Given the description of an element on the screen output the (x, y) to click on. 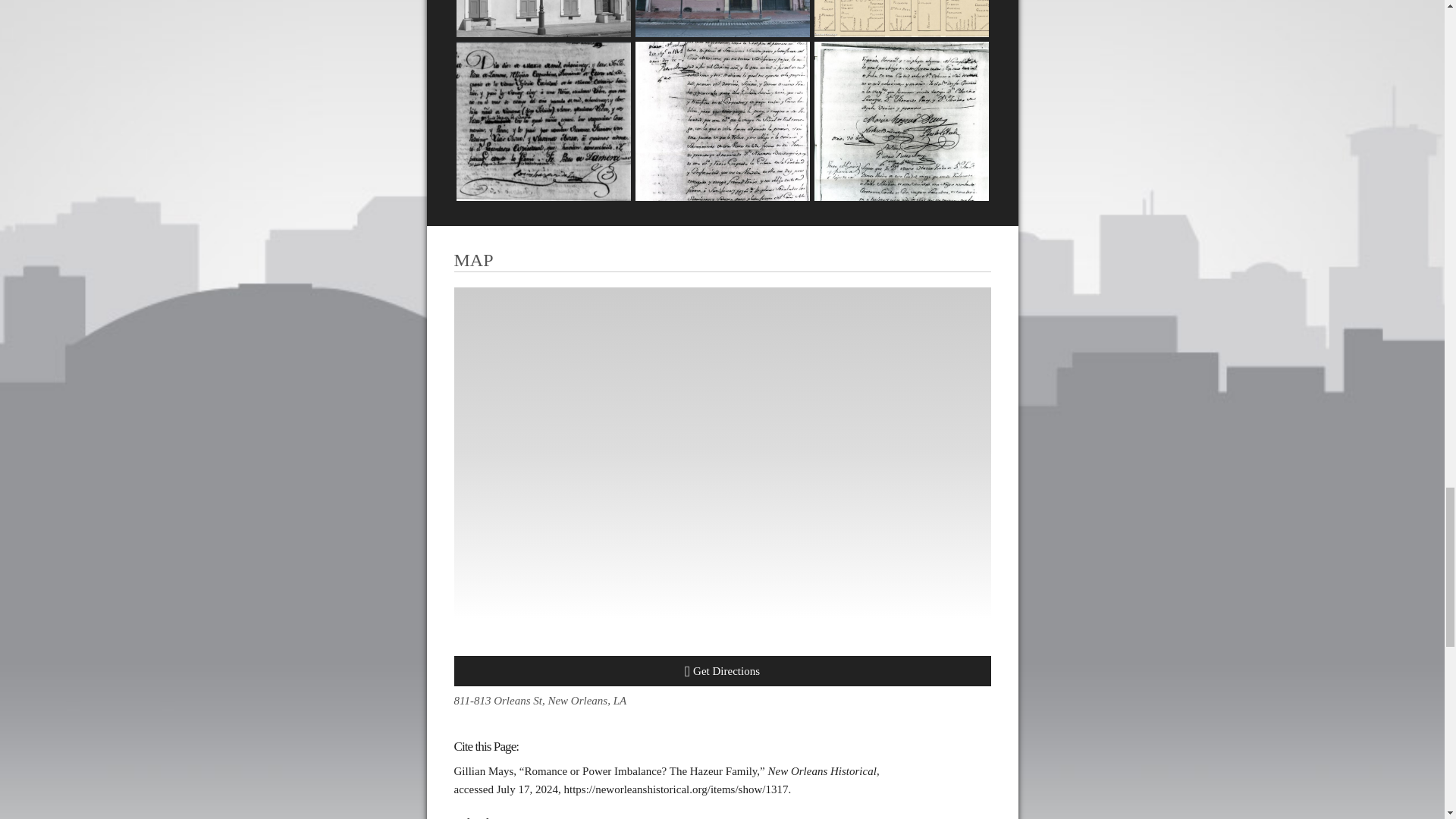
Hazeur Home on Bourbon (721, 18)
Hazeur Home on Orleans (543, 18)
Baptismal Record for Susana Hazeur (543, 120)
Get Directions on Google Maps (721, 671)
Marie Hazeur Slave Sale- Part 2 (900, 120)
Marie Hazeur Slave Sale- Part 1 (721, 120)
Get Directions (721, 671)
Map of Hazeur Home in 1808 (900, 18)
